Given the description of an element on the screen output the (x, y) to click on. 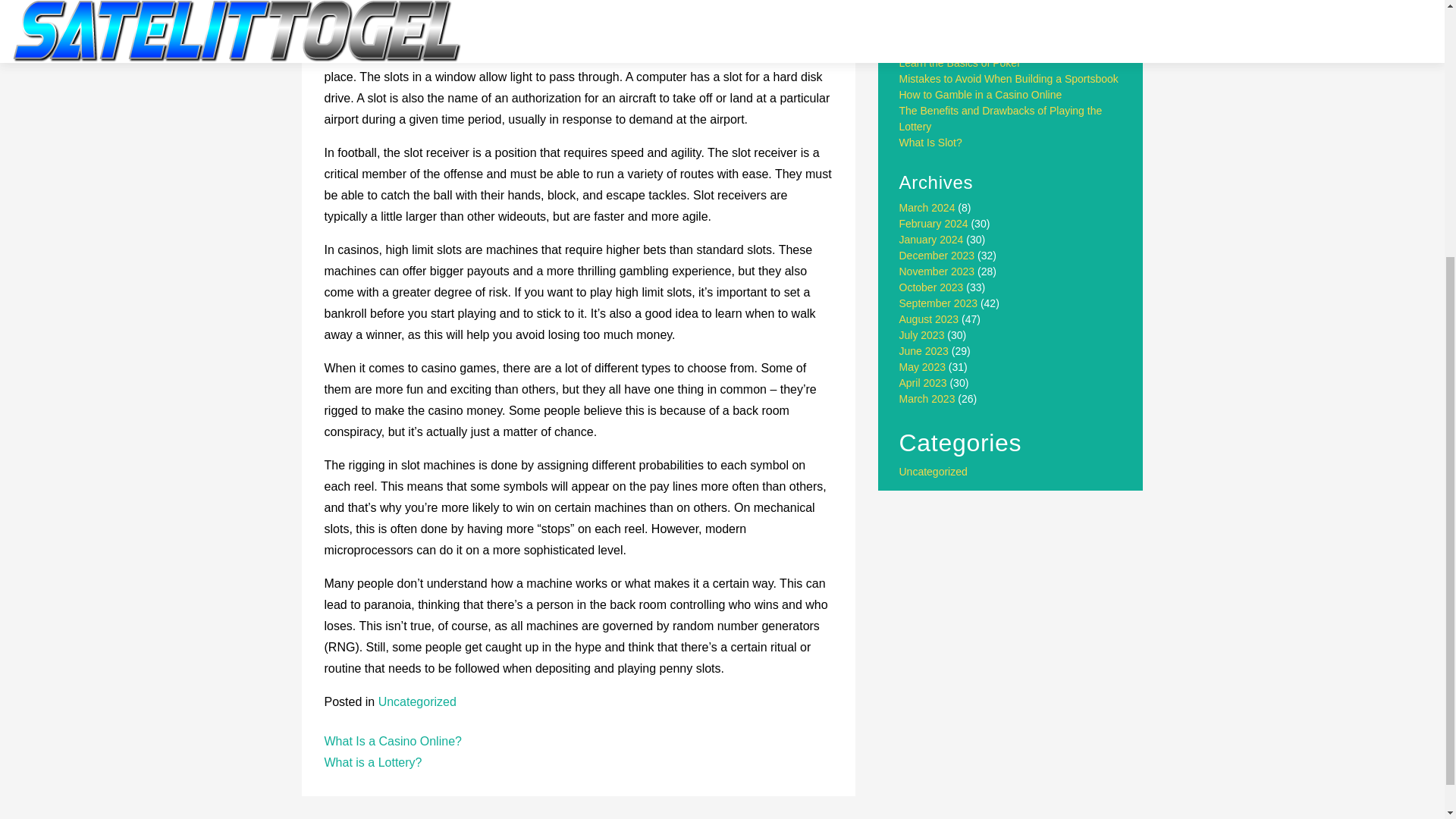
What Is a Casino Online? (392, 740)
Learn the Basics of Poker (959, 62)
September 2023 (938, 303)
August 2023 (929, 318)
April 2023 (923, 382)
How to Gamble in a Casino Online (980, 94)
The Benefits and Drawbacks of Playing the Lottery (1000, 118)
June 2023 (924, 350)
November 2023 (937, 271)
October 2023 (931, 287)
